Given the description of an element on the screen output the (x, y) to click on. 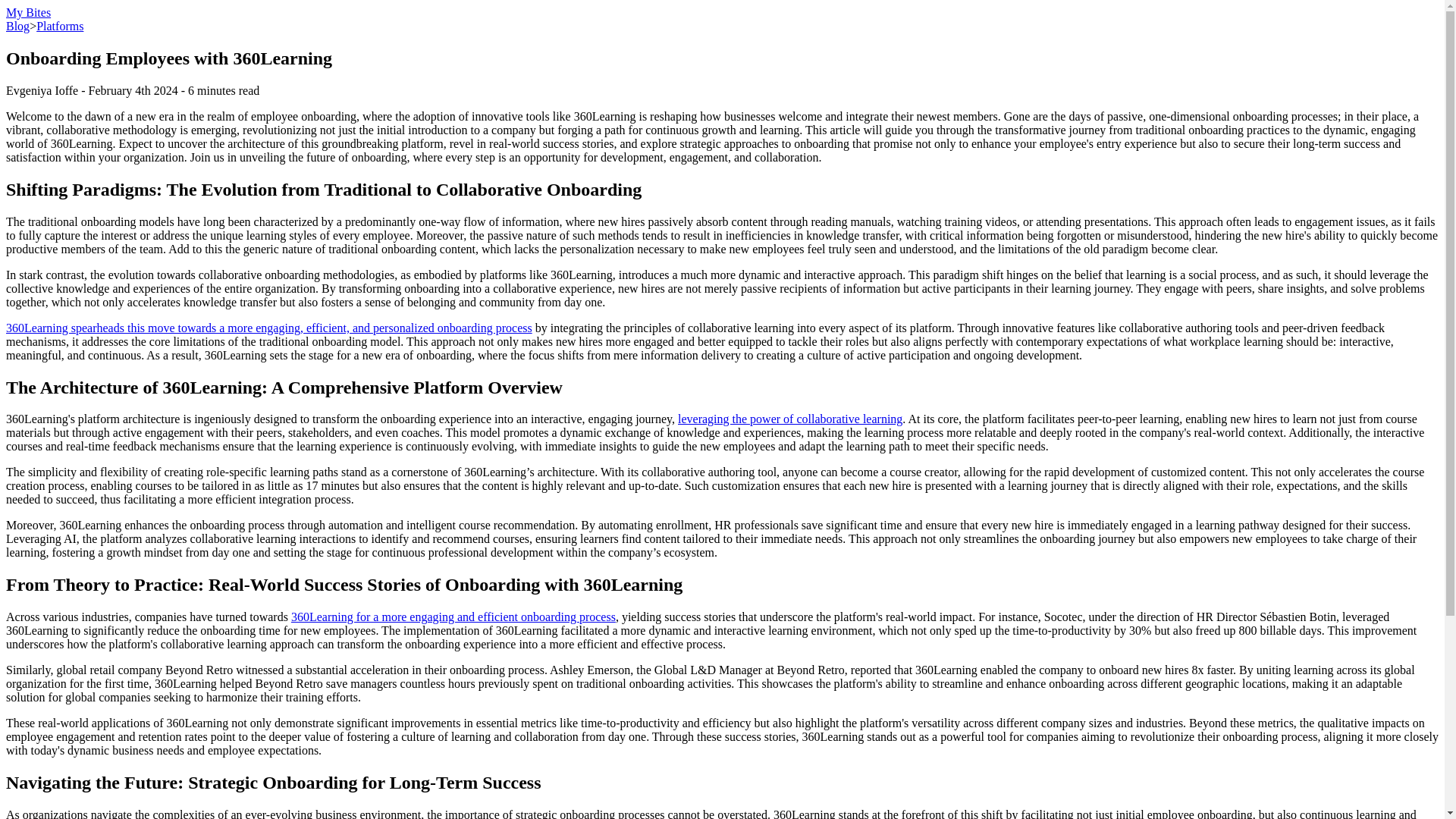
leveraging the power of collaborative learning (790, 418)
Platforms (59, 25)
My Bites (27, 11)
Blog (17, 25)
